Given the description of an element on the screen output the (x, y) to click on. 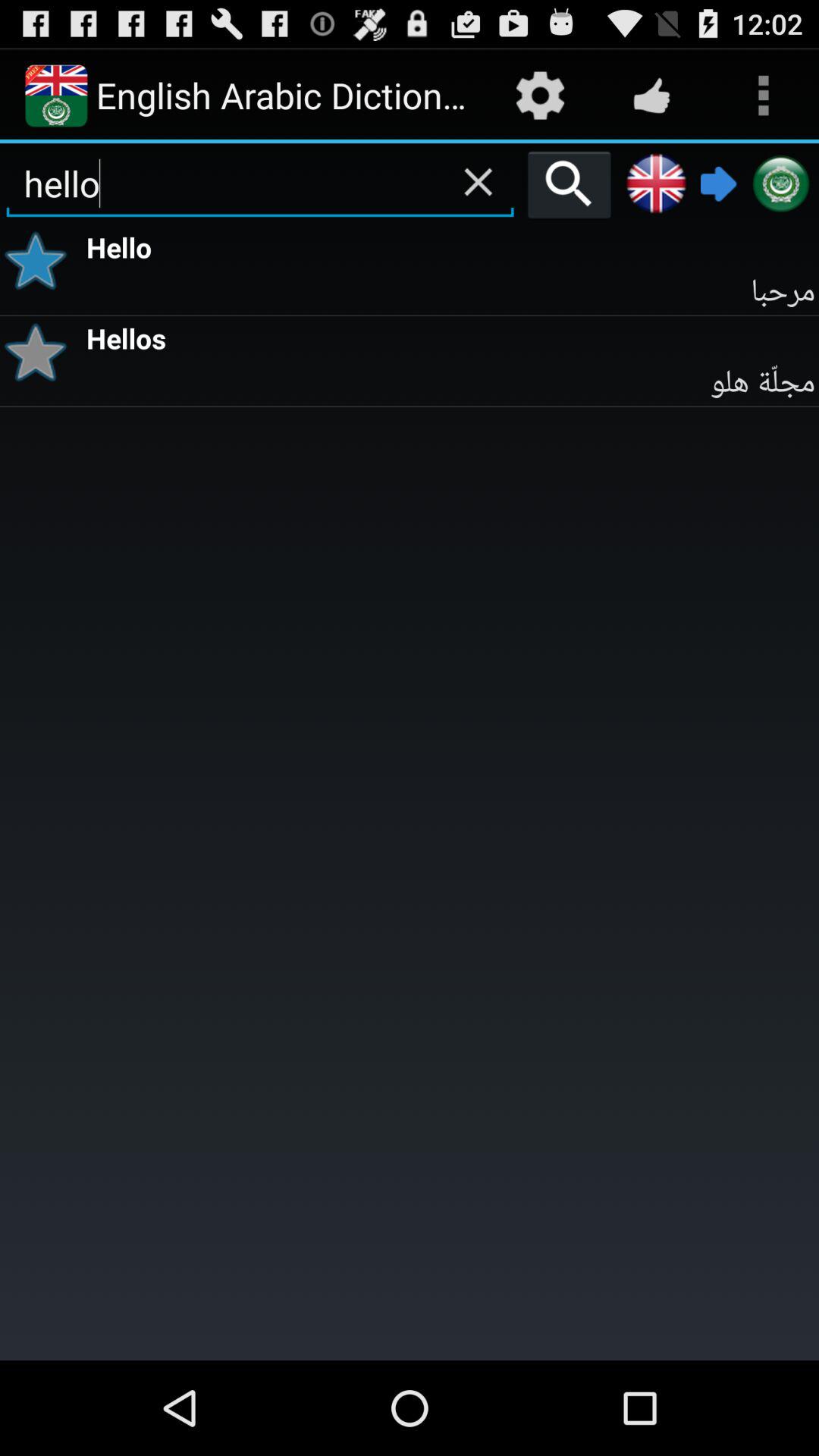
launch the icon to the right of the hello item (569, 184)
